Given the description of an element on the screen output the (x, y) to click on. 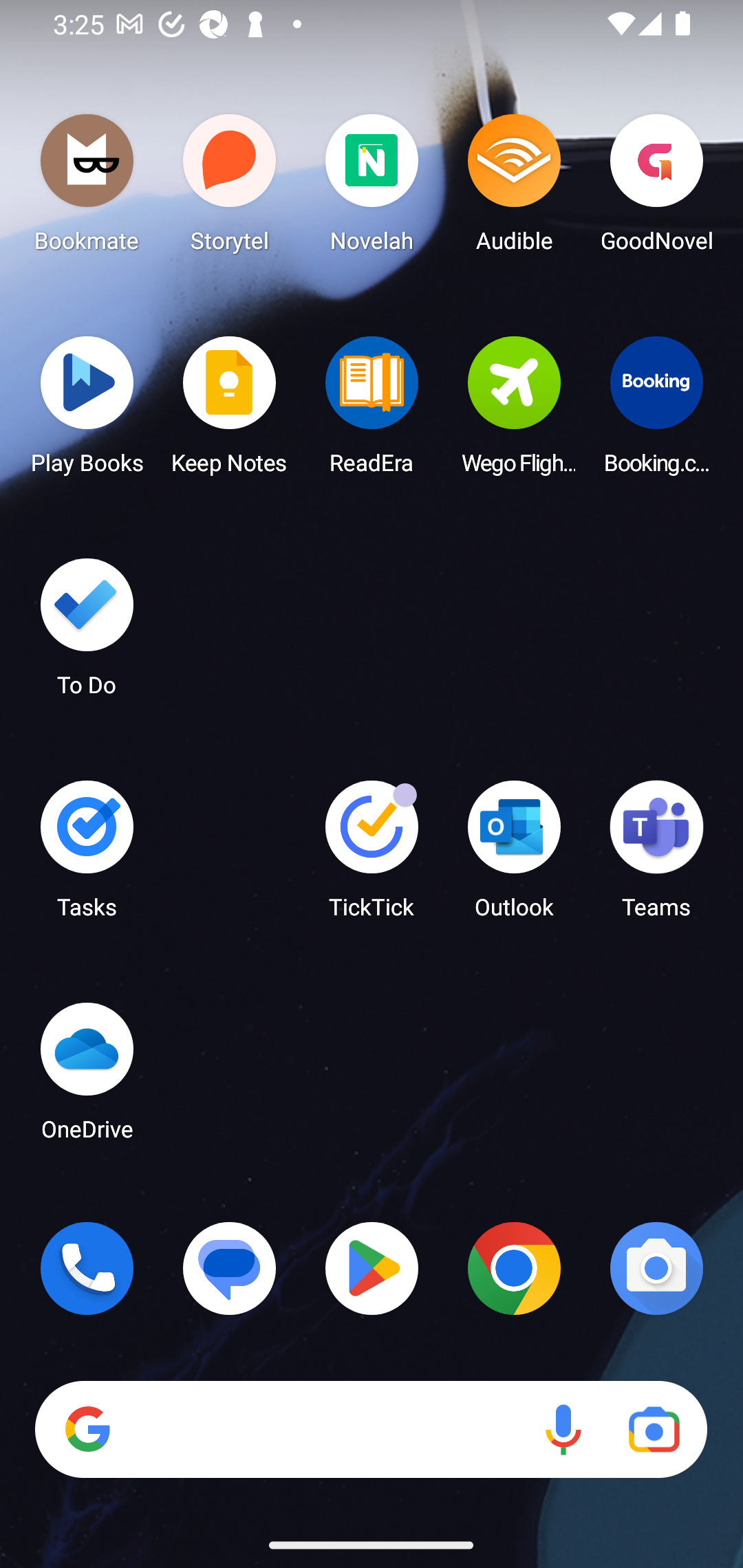
Bookmate (86, 188)
Storytel (229, 188)
Novelah (371, 188)
Audible (513, 188)
GoodNovel (656, 188)
Play Books (86, 410)
Keep Notes (229, 410)
ReadEra (371, 410)
Wego Flights & Hotels (513, 410)
Booking.com (656, 410)
To Do (86, 633)
Tasks (86, 854)
TickTick TickTick has 3 notifications (371, 854)
Outlook (513, 854)
Teams (656, 854)
OneDrive (86, 1076)
Phone (86, 1268)
Messages (229, 1268)
Play Store (371, 1268)
Chrome (513, 1268)
Camera (656, 1268)
Search Voice search Google Lens (370, 1429)
Voice search (562, 1429)
Google Lens (653, 1429)
